Given the description of an element on the screen output the (x, y) to click on. 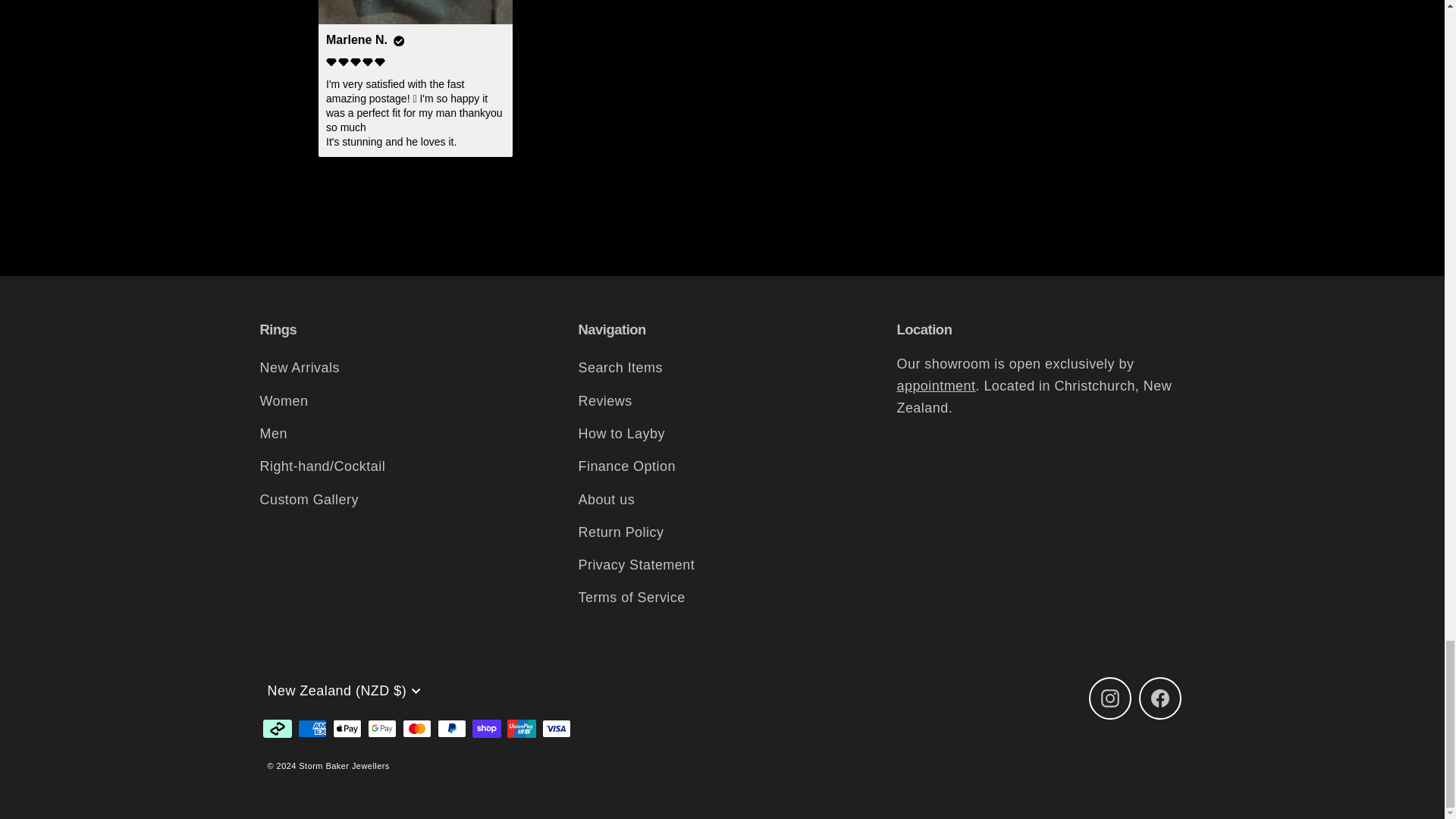
Google Pay (381, 728)
Apple Pay (346, 728)
instagram (1109, 698)
Storm Baker Jewellers on Facebook (1159, 698)
Mastercard (415, 728)
Afterpay (276, 728)
Storm Baker Jewellers on Instagram (1110, 698)
American Express (311, 728)
